Given the description of an element on the screen output the (x, y) to click on. 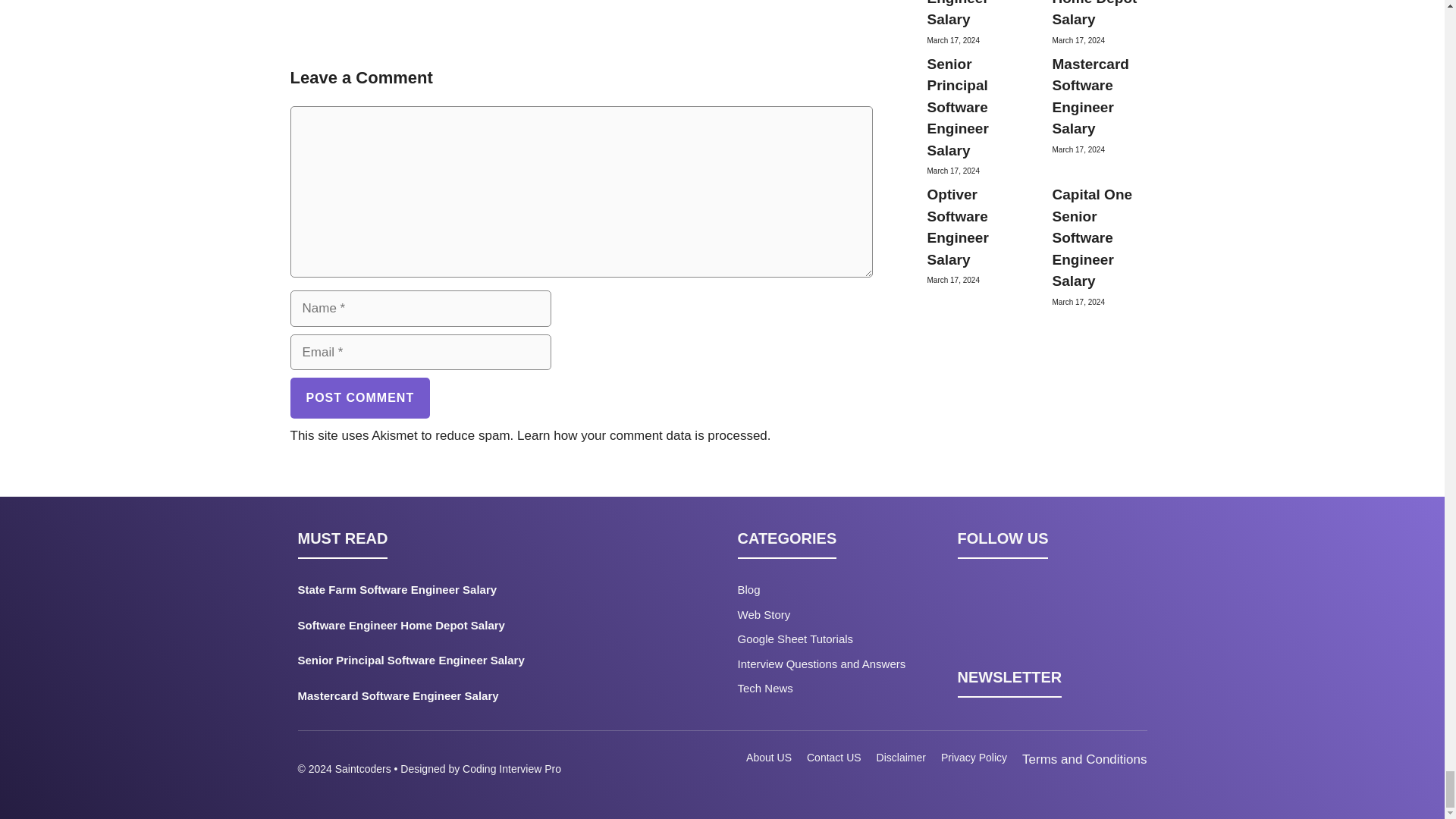
Mastercard Software Engineer Salary (450, 699)
State Farm Software Engineer Salary (450, 593)
Software Engineer Home Depot Salary (450, 629)
Post Comment (359, 397)
Senior Principal Software Engineer Salary (450, 663)
